Given the description of an element on the screen output the (x, y) to click on. 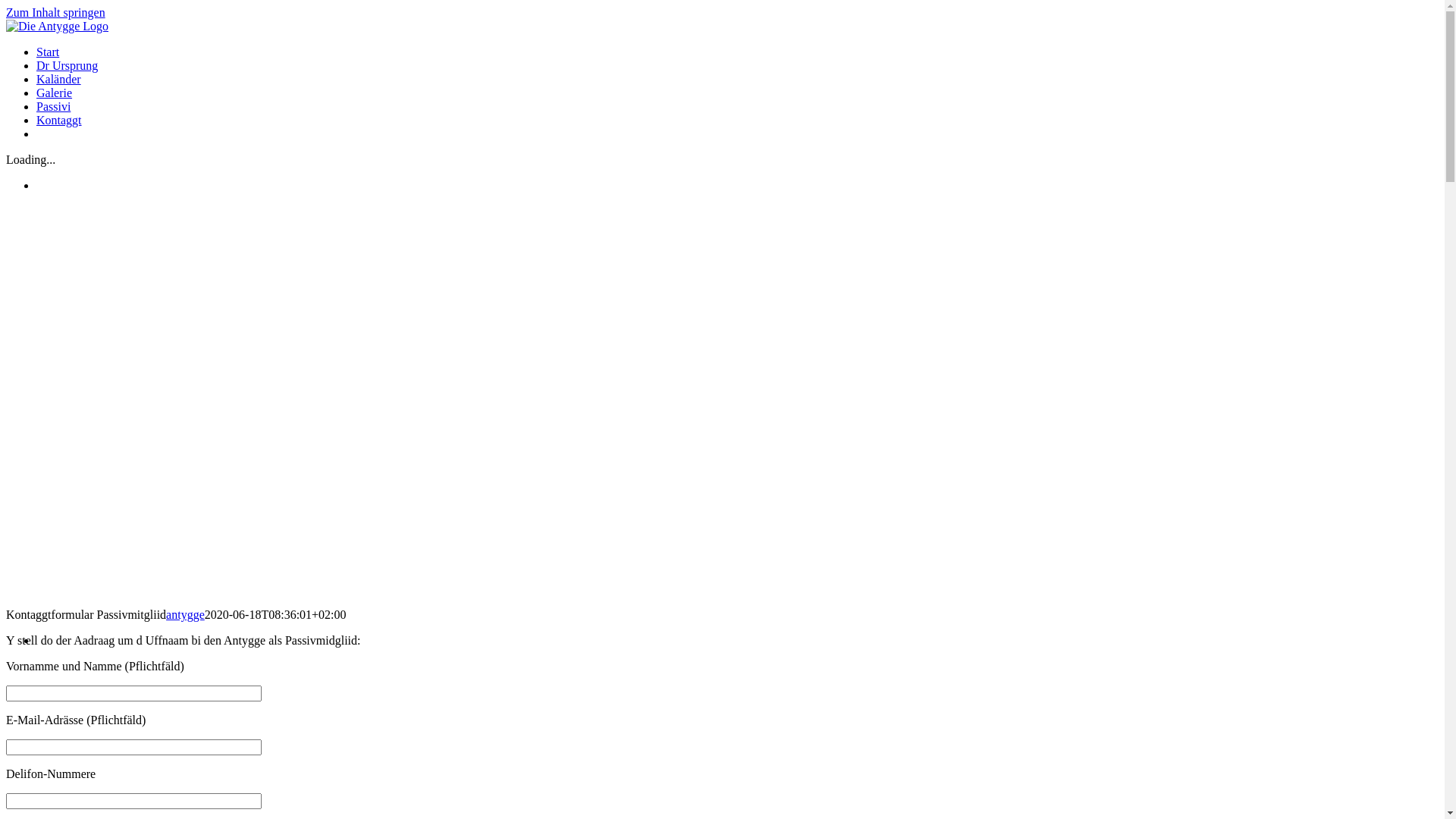
antygge Element type: text (185, 614)
Dr Ursprung Element type: text (66, 65)
Start Element type: text (47, 51)
Passivi Element type: text (53, 106)
Zum Inhalt springen Element type: text (55, 12)
Galerie Element type: text (54, 92)
Kontaggt Element type: text (58, 119)
